Given the description of an element on the screen output the (x, y) to click on. 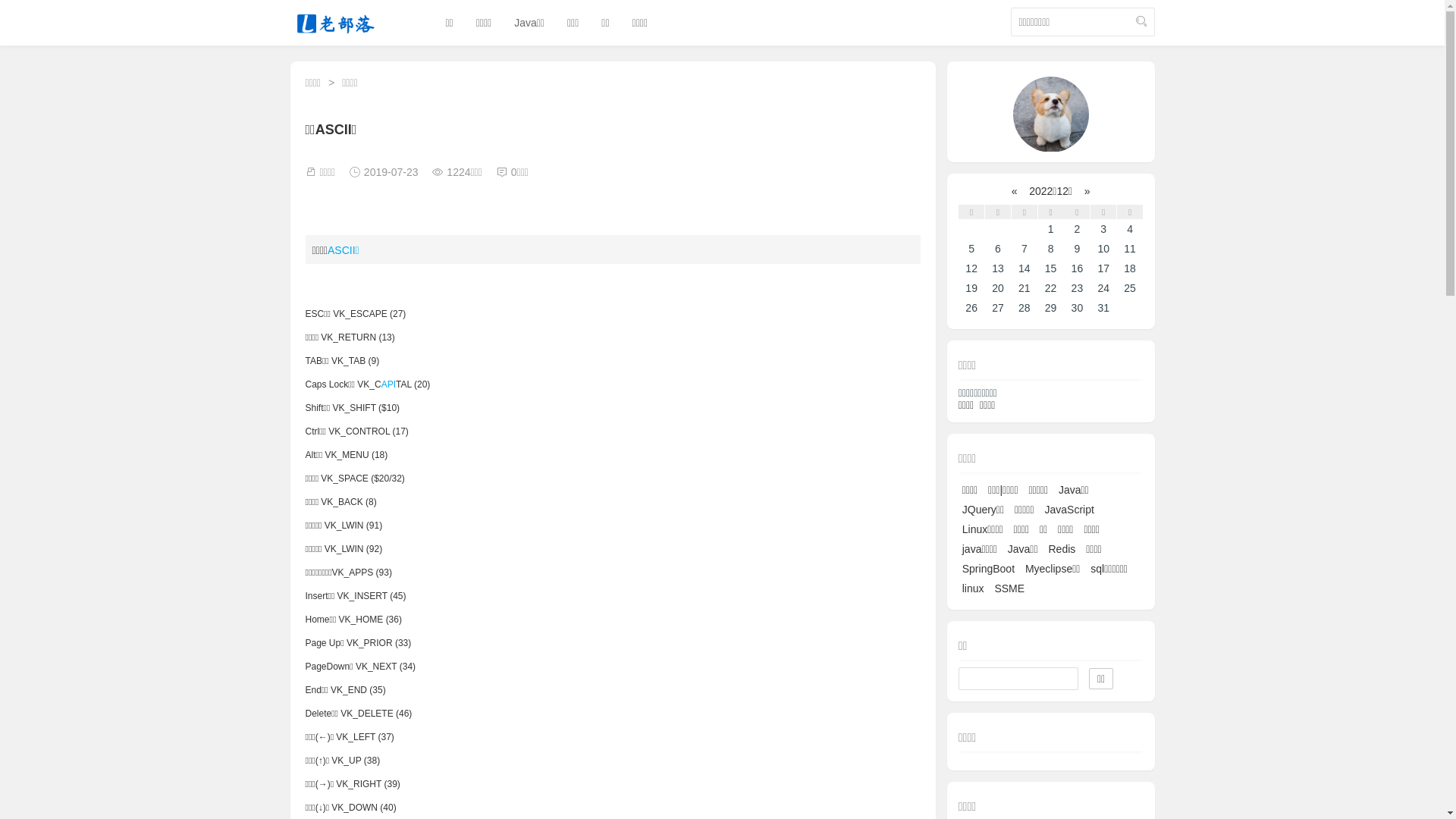
Redis Element type: text (1061, 548)
JavaScript Element type: text (1068, 509)
linux Element type: text (973, 588)
API Element type: text (388, 384)
SSME Element type: text (1009, 588)
SpringBoot Element type: text (988, 568)
